Given the description of an element on the screen output the (x, y) to click on. 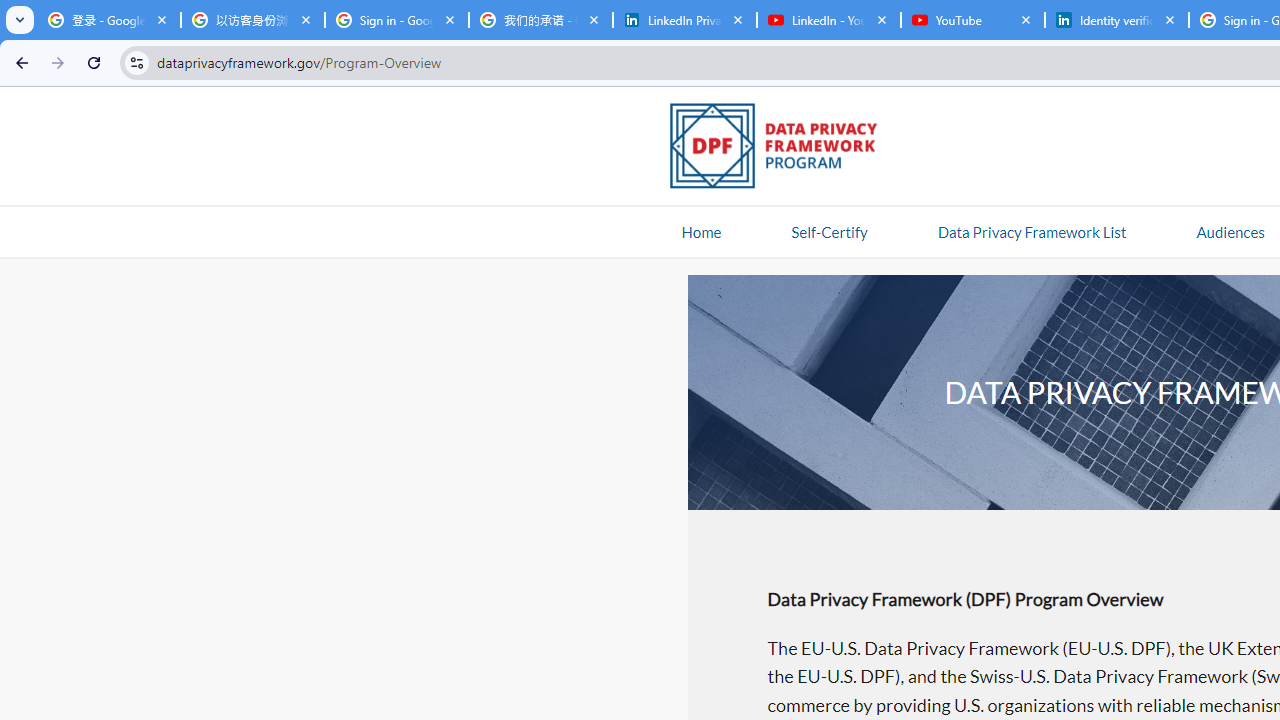
LinkedIn Privacy Policy (684, 20)
YouTube (972, 20)
